Given the description of an element on the screen output the (x, y) to click on. 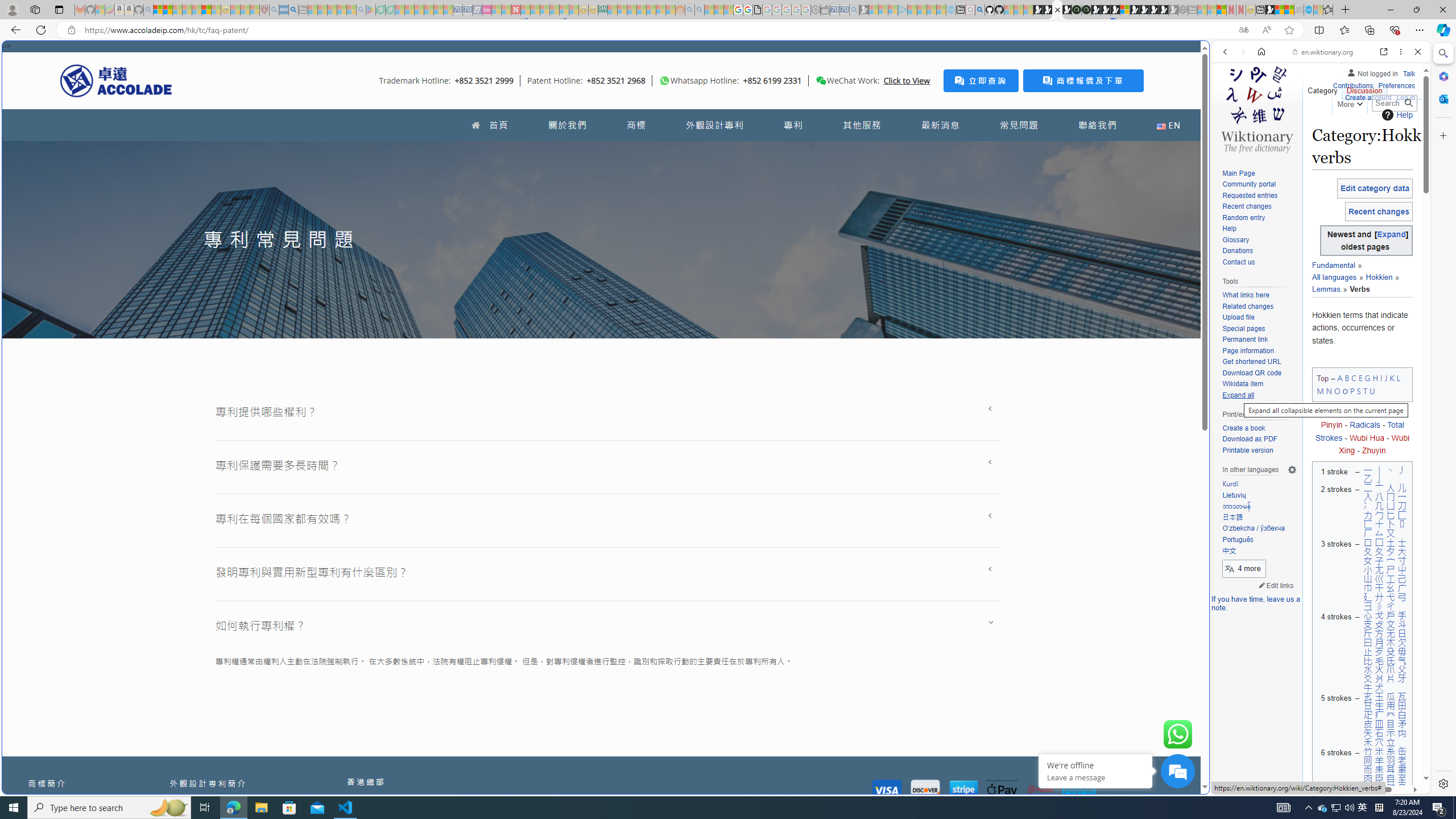
Earth has six continents not seven, radical new study claims (1288, 9)
Wubi Hua (1366, 437)
Accolade IP HK Logo (116, 80)
Frequently visited (965, 151)
S (1358, 390)
All languages (1336, 271)
